Given the description of an element on the screen output the (x, y) to click on. 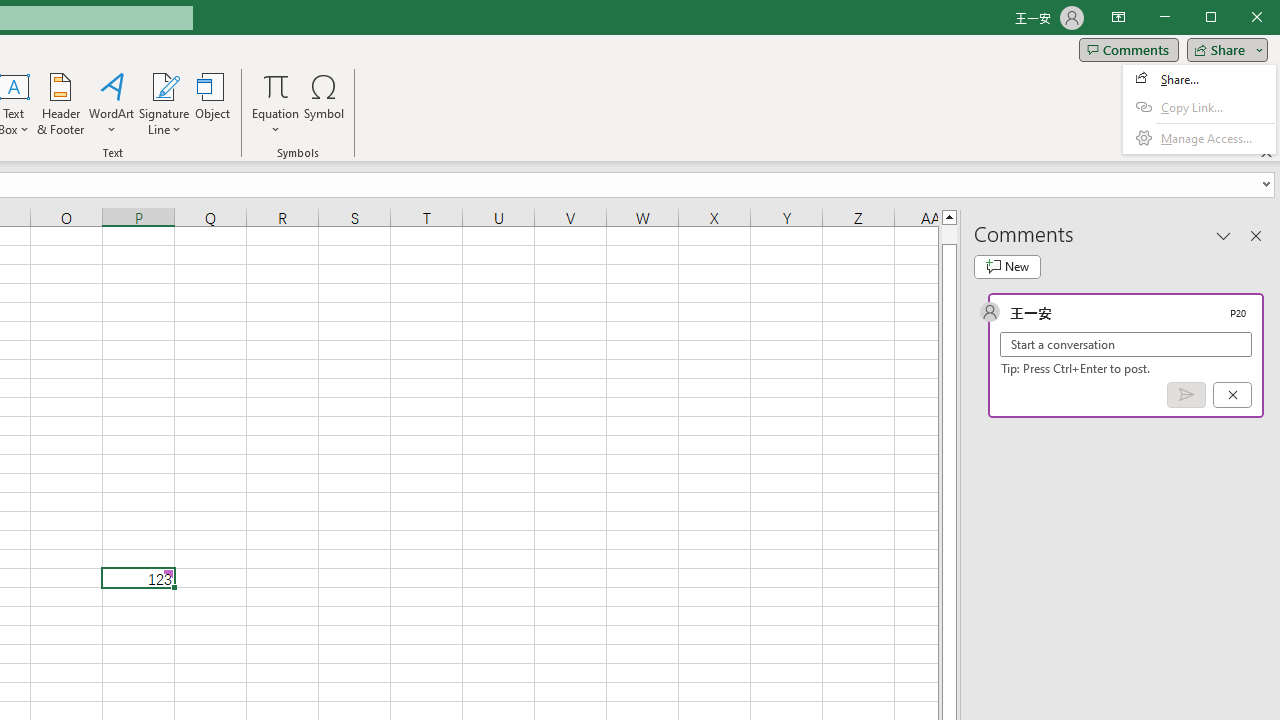
Object... (213, 104)
Signature Line (164, 104)
Cancel (1232, 395)
Equation (275, 104)
